Given the description of an element on the screen output the (x, y) to click on. 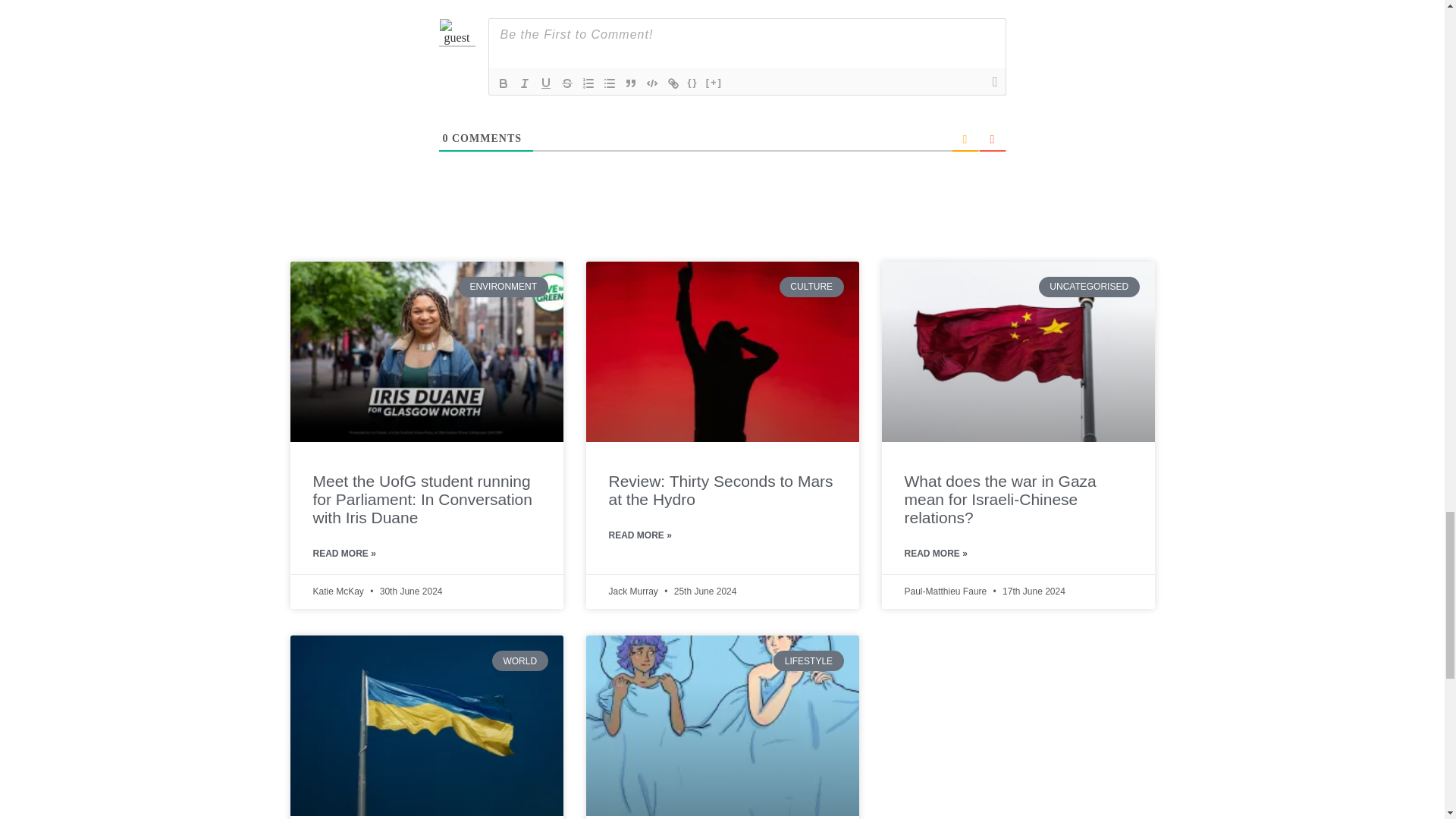
Blockquote (631, 83)
Underline (545, 83)
Bold (503, 83)
Source Code (692, 83)
Italic (524, 83)
Unordered List (609, 83)
Strike (567, 83)
Link (673, 83)
Ordered List (588, 83)
Spoiler (713, 83)
Code Block (652, 83)
